Given the description of an element on the screen output the (x, y) to click on. 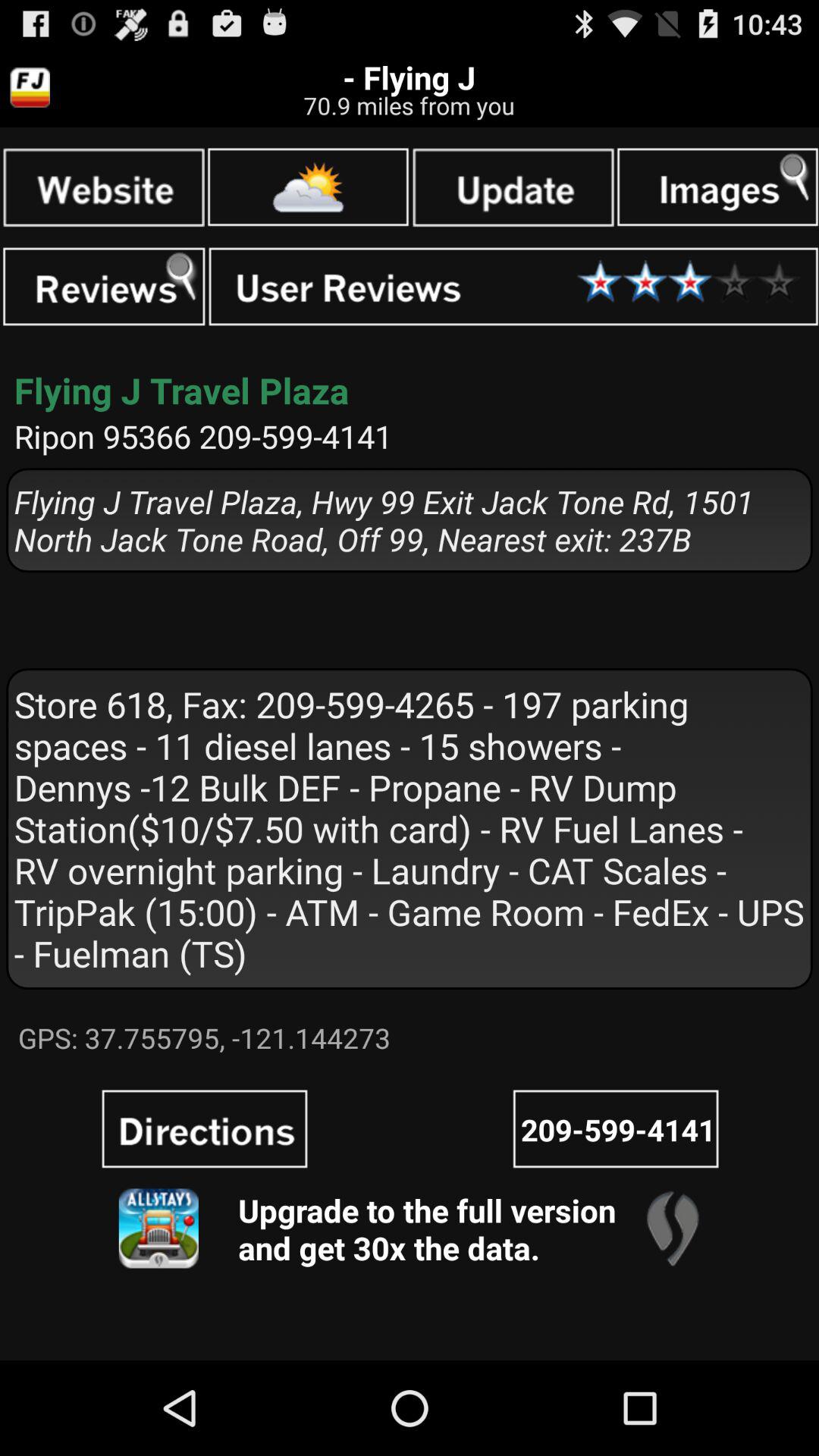
call phone number (615, 1128)
